Given the description of an element on the screen output the (x, y) to click on. 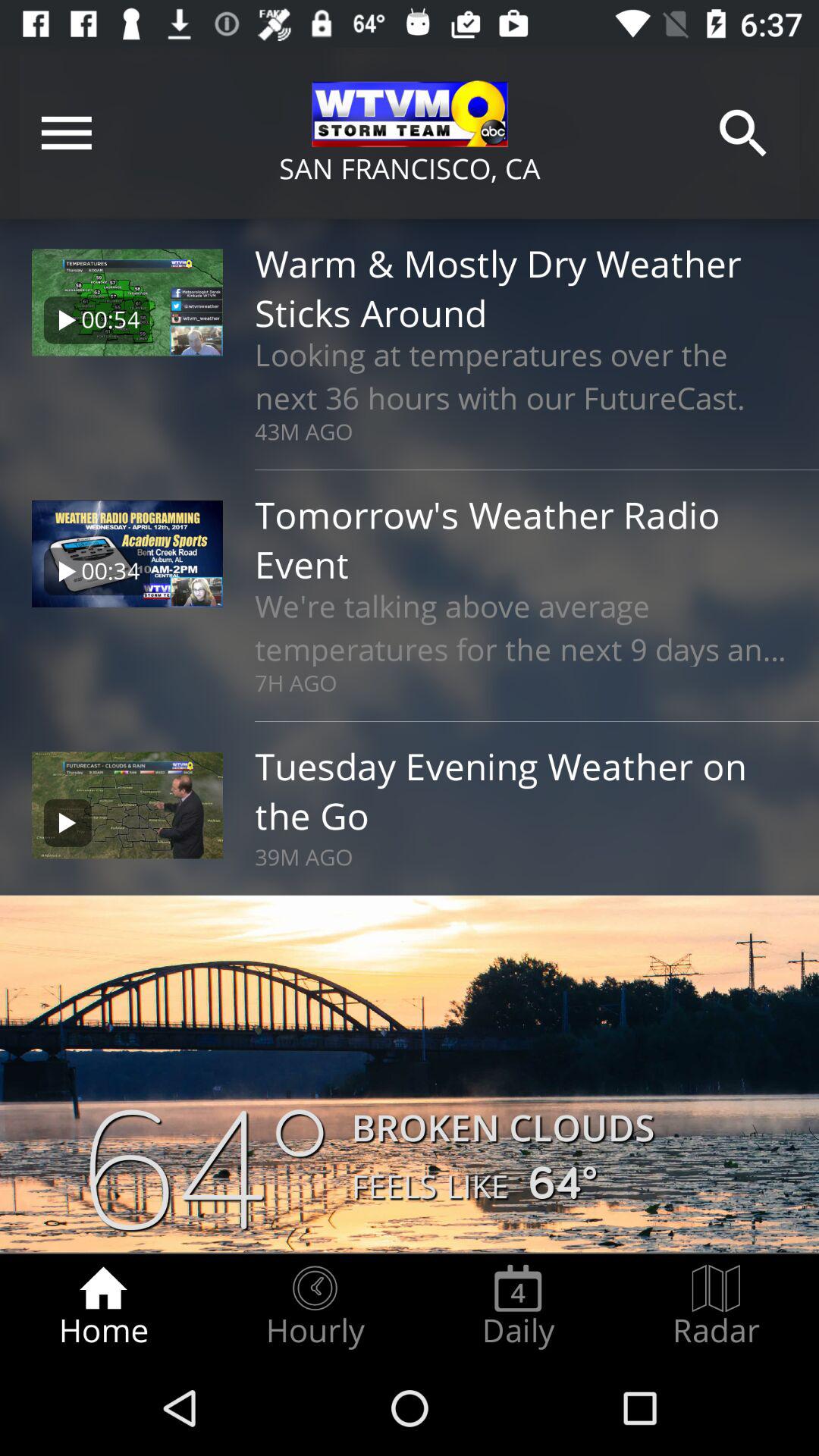
launch icon to the left of radar icon (518, 1307)
